Given the description of an element on the screen output the (x, y) to click on. 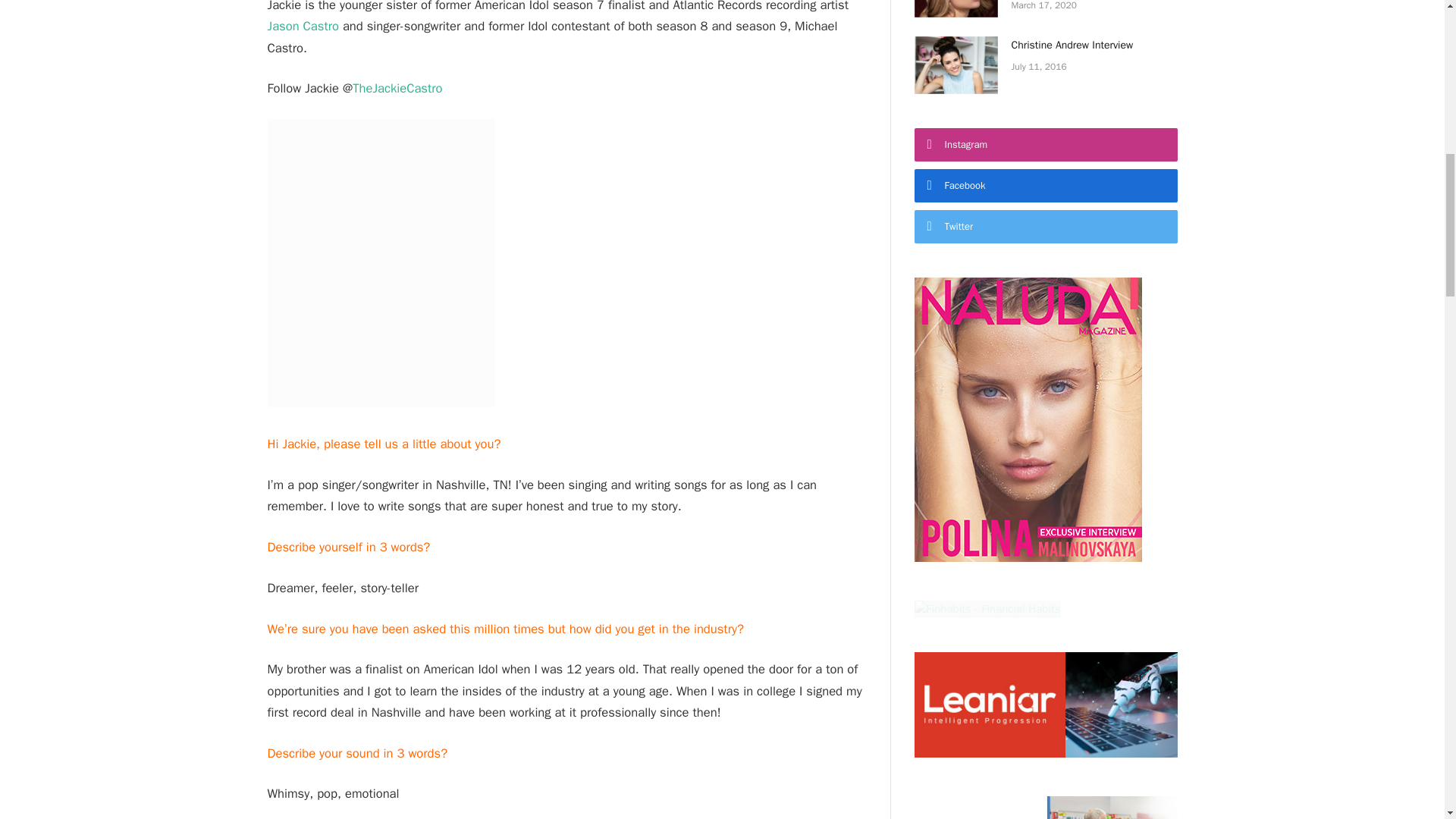
TheJackieCastro (397, 88)
Jason Castro (301, 26)
